Given the description of an element on the screen output the (x, y) to click on. 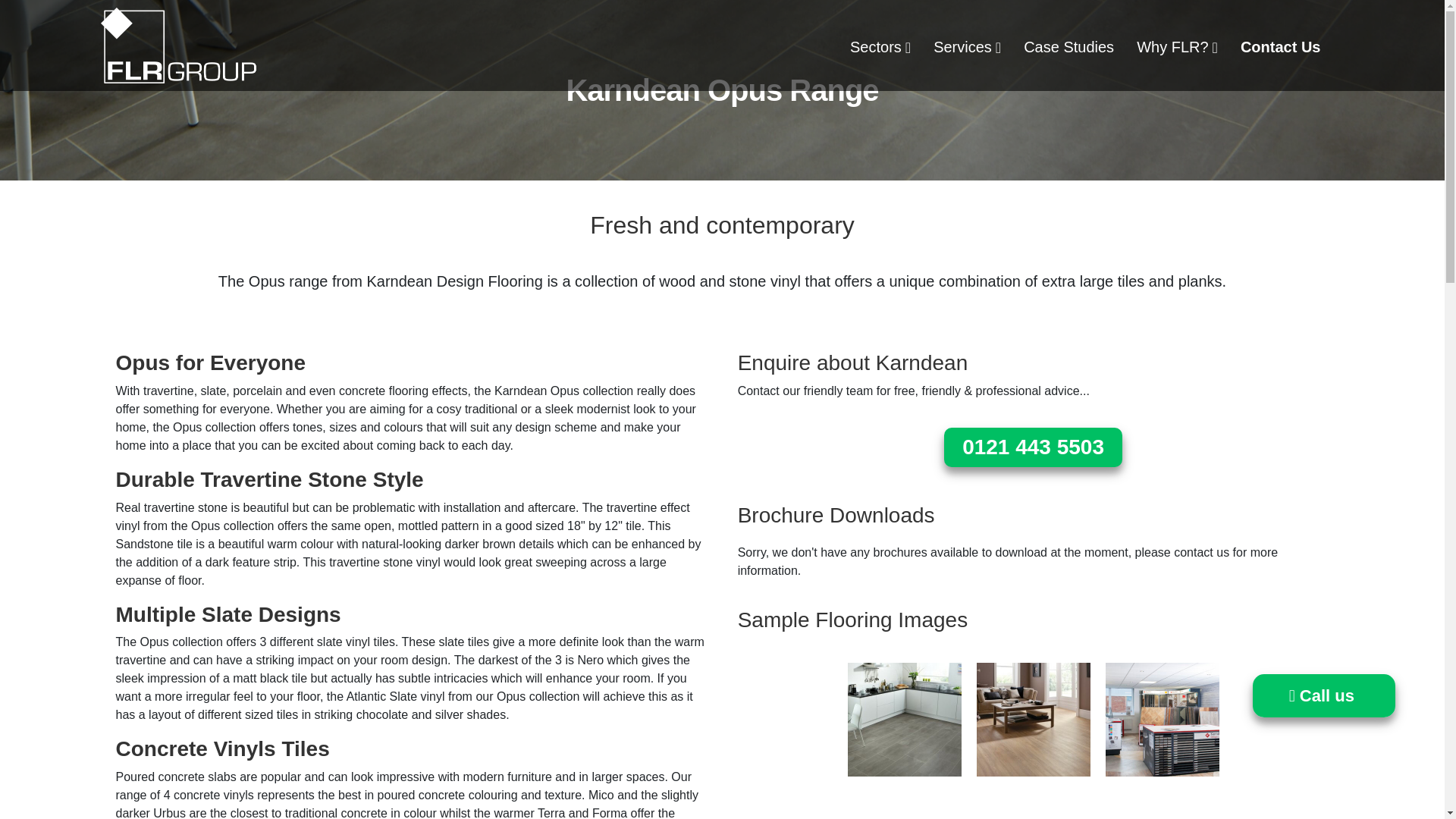
FLR Karndean Flooring Showroom (1162, 719)
Opus Featyred (903, 719)
opus gallery (1033, 719)
Sectors (879, 47)
Services (966, 47)
